Given the description of an element on the screen output the (x, y) to click on. 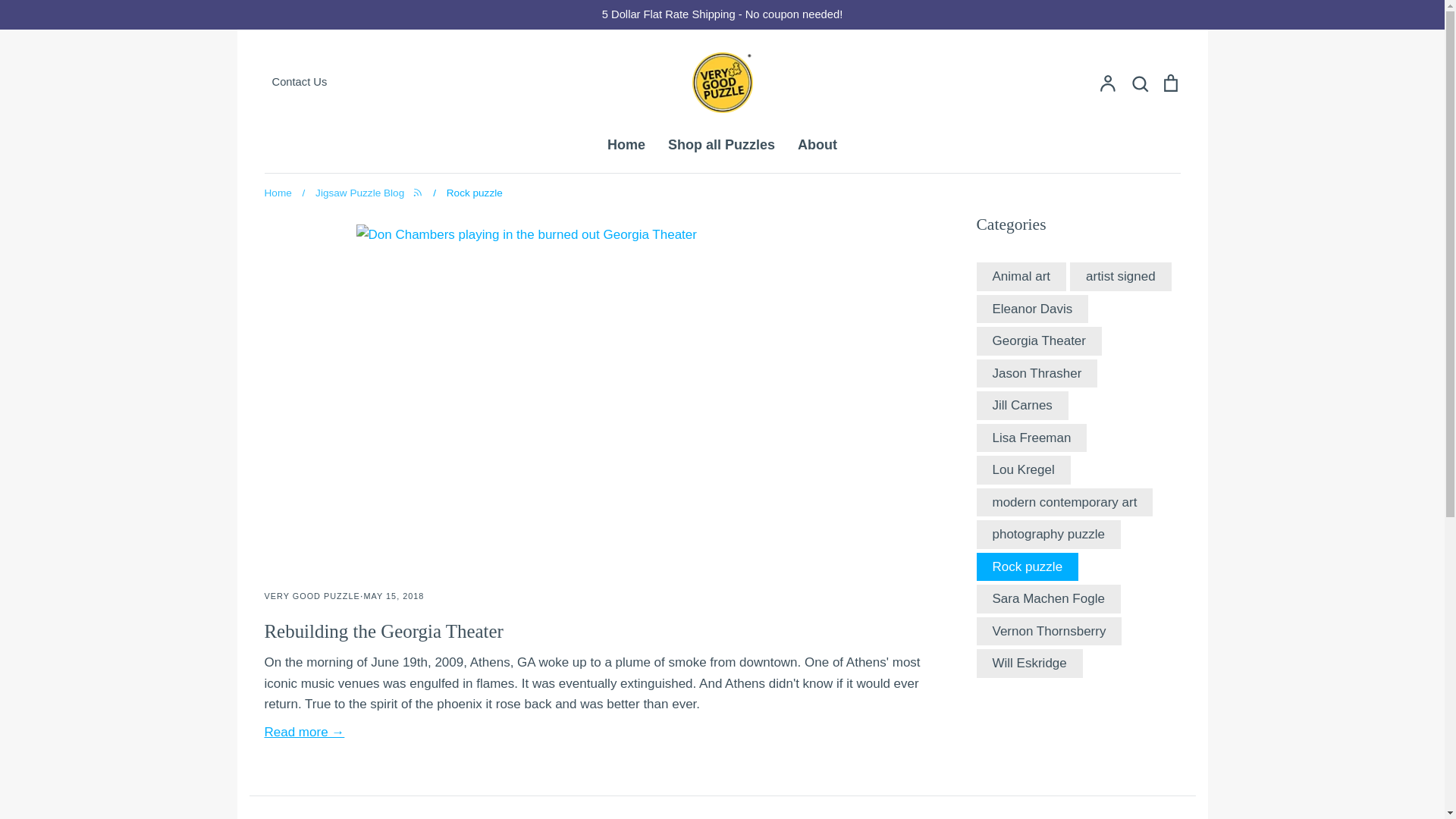
Account (1107, 82)
Contact Us (414, 82)
Shop all Puzzles (721, 144)
Show articles tagged artist signed (1121, 276)
About (817, 144)
Home (277, 193)
Cart (1169, 82)
Show articles tagged Eleanor Davis (1031, 309)
Show articles tagged Animal art (1020, 276)
Home (626, 144)
